Given the description of an element on the screen output the (x, y) to click on. 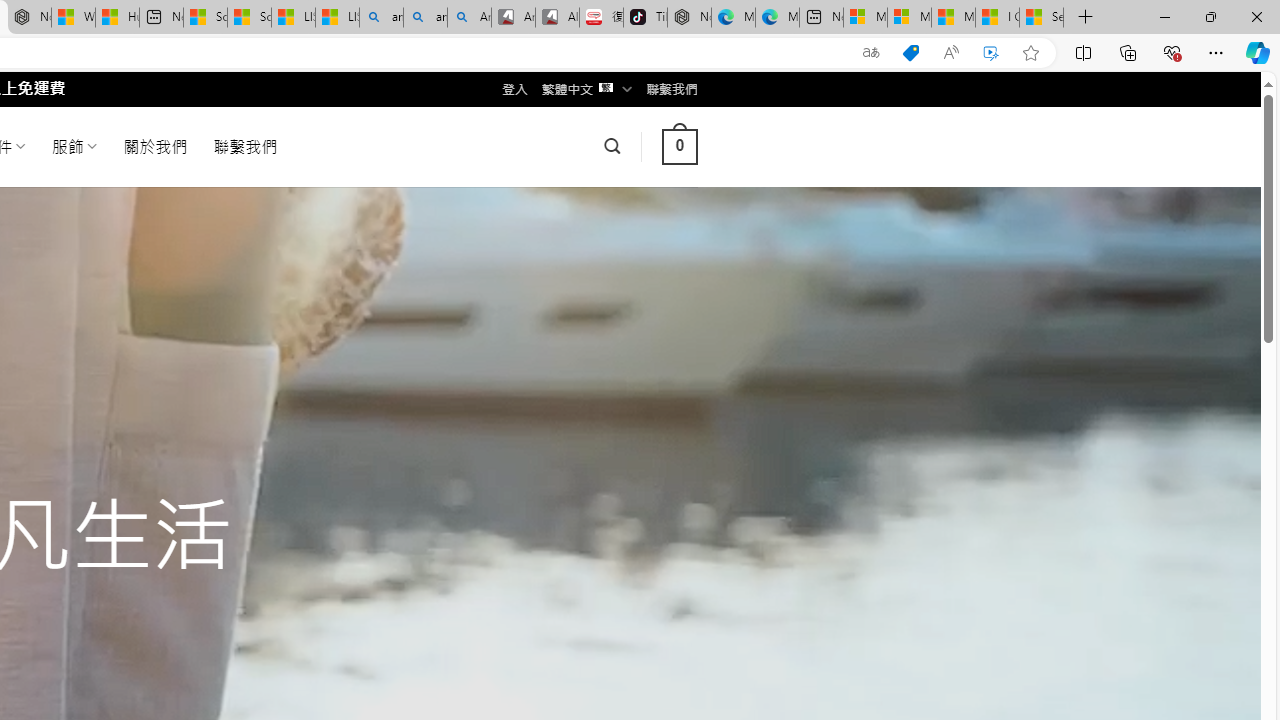
Amazon Echo Robot - Search Images (469, 17)
amazon - Search Images (425, 17)
Nordace - Best Sellers (689, 17)
All Cubot phones (557, 17)
Microsoft account | Privacy (909, 17)
TikTok (644, 17)
Enhance video (991, 53)
